Given the description of an element on the screen output the (x, y) to click on. 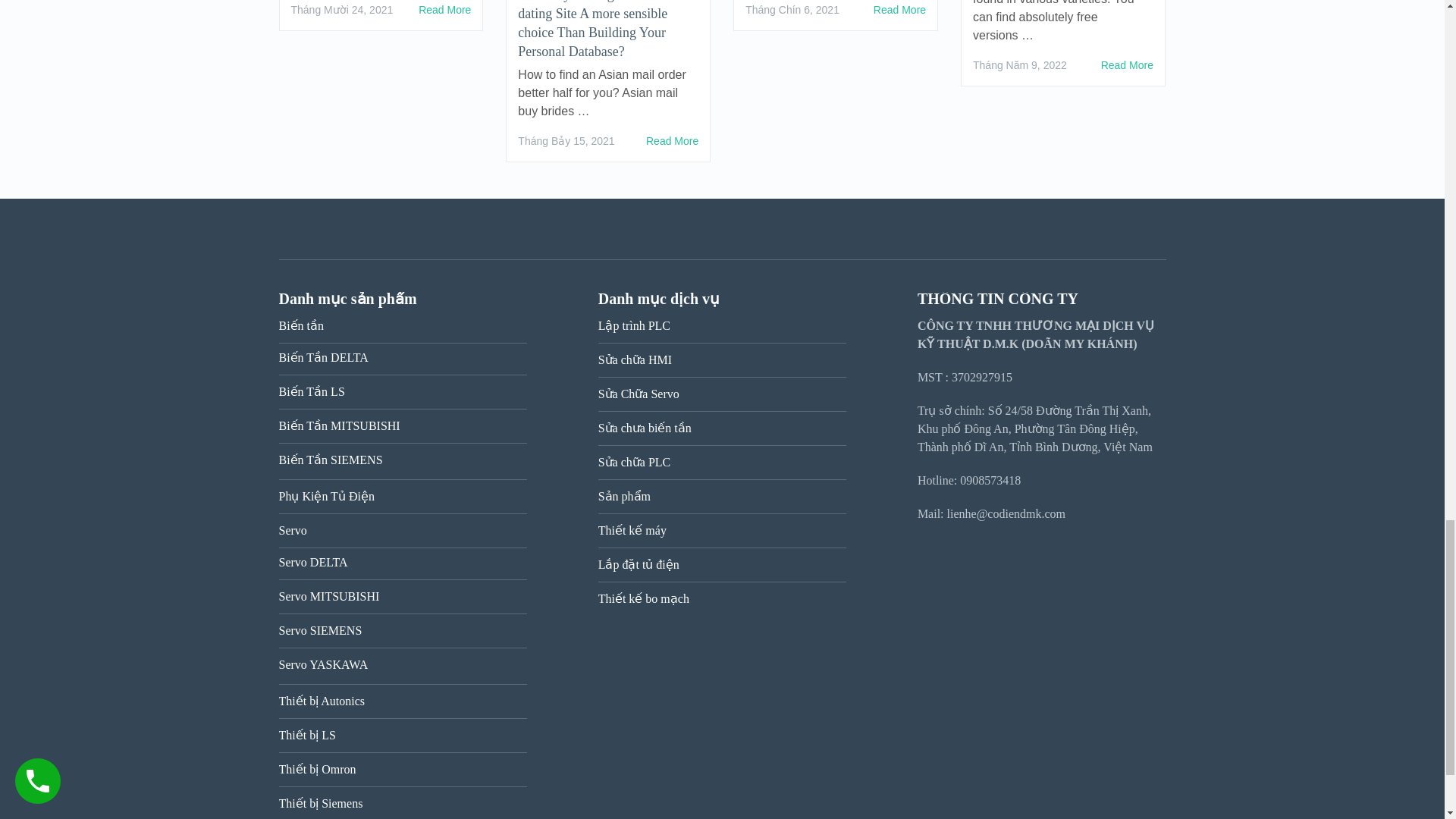
Expert Antivirus Products and services (1126, 65)
Sizzling Teen Cam Girls (444, 9)
Ideal Wife Features (899, 9)
